Given the description of an element on the screen output the (x, y) to click on. 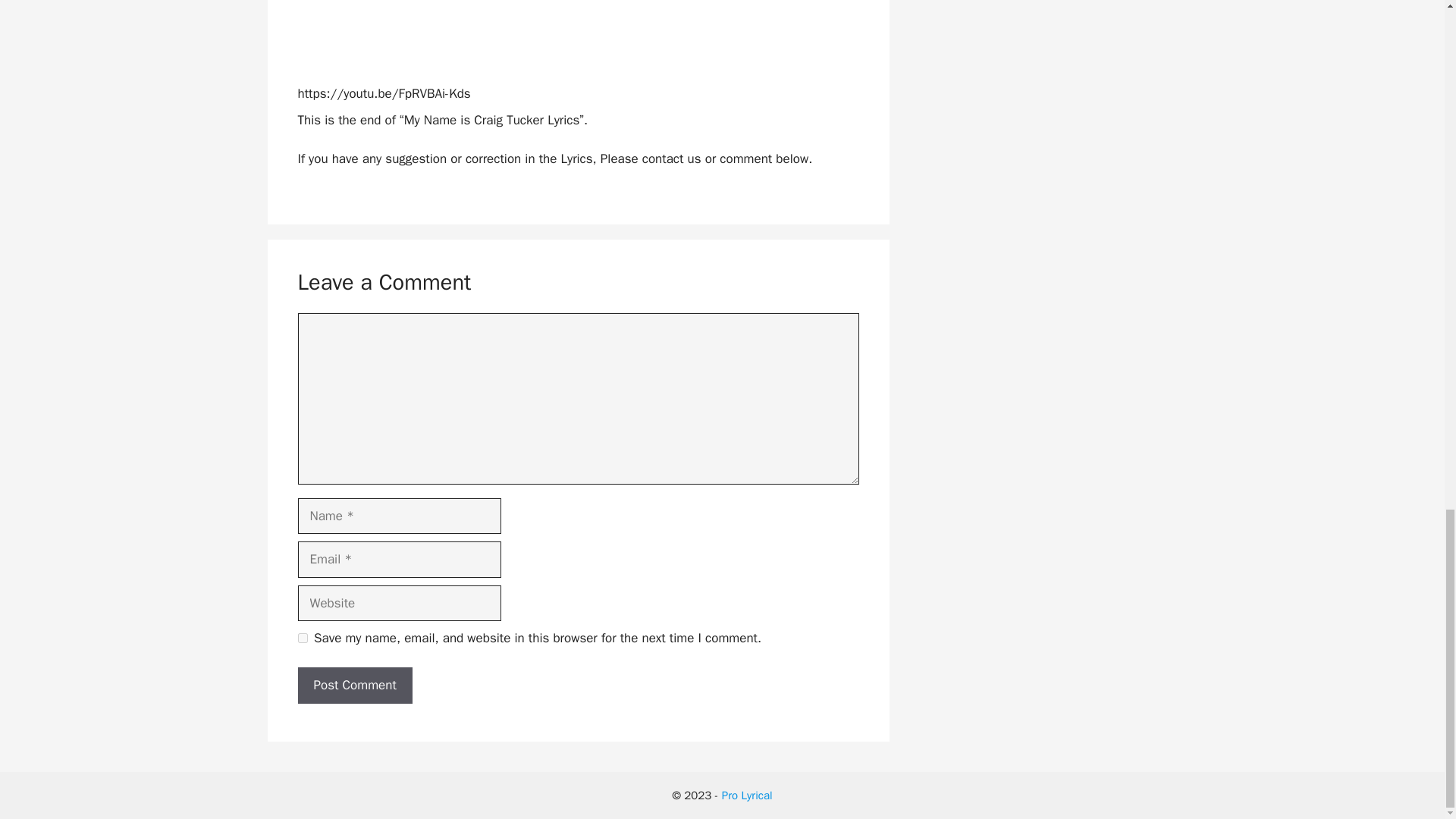
Pro Lyrical (747, 795)
Post Comment (354, 685)
Post Comment (354, 685)
yes (302, 637)
